Given the description of an element on the screen output the (x, y) to click on. 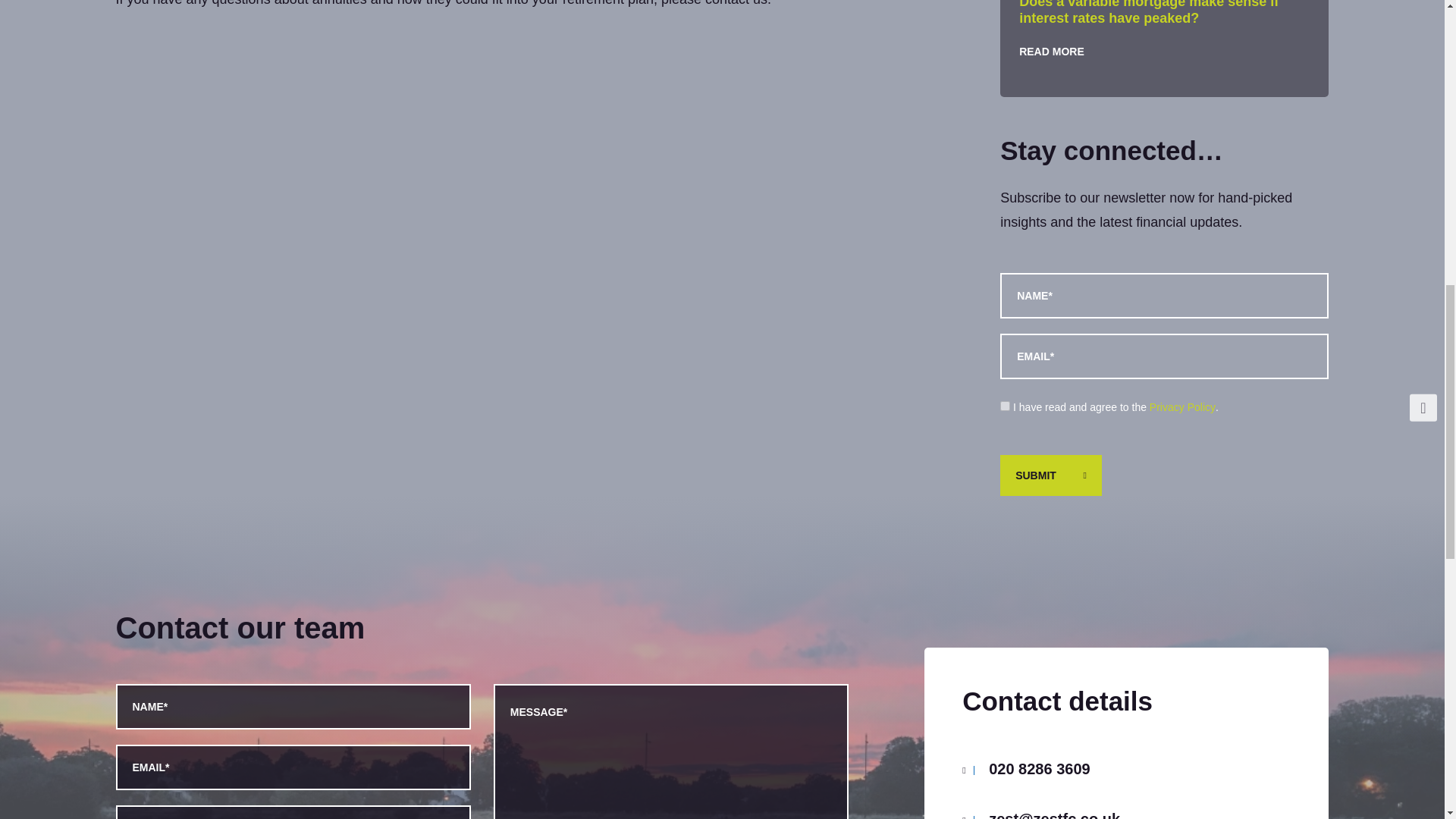
Privacy Policy (1182, 407)
1 (1005, 406)
